Given the description of an element on the screen output the (x, y) to click on. 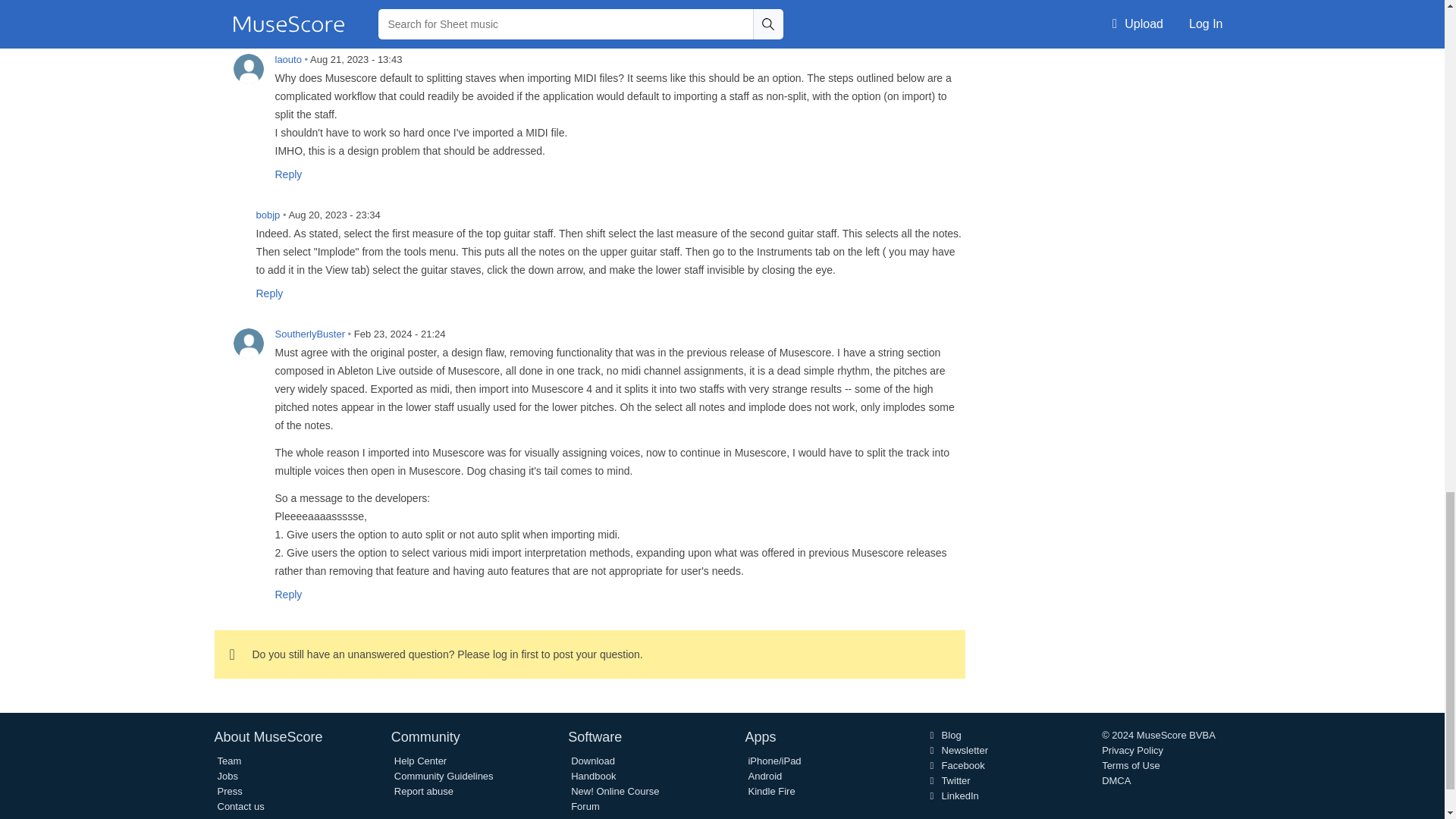
laouto (247, 69)
SoutherlyBuster (247, 343)
bobjp (229, 224)
stevelew (323, 0)
